Given the description of an element on the screen output the (x, y) to click on. 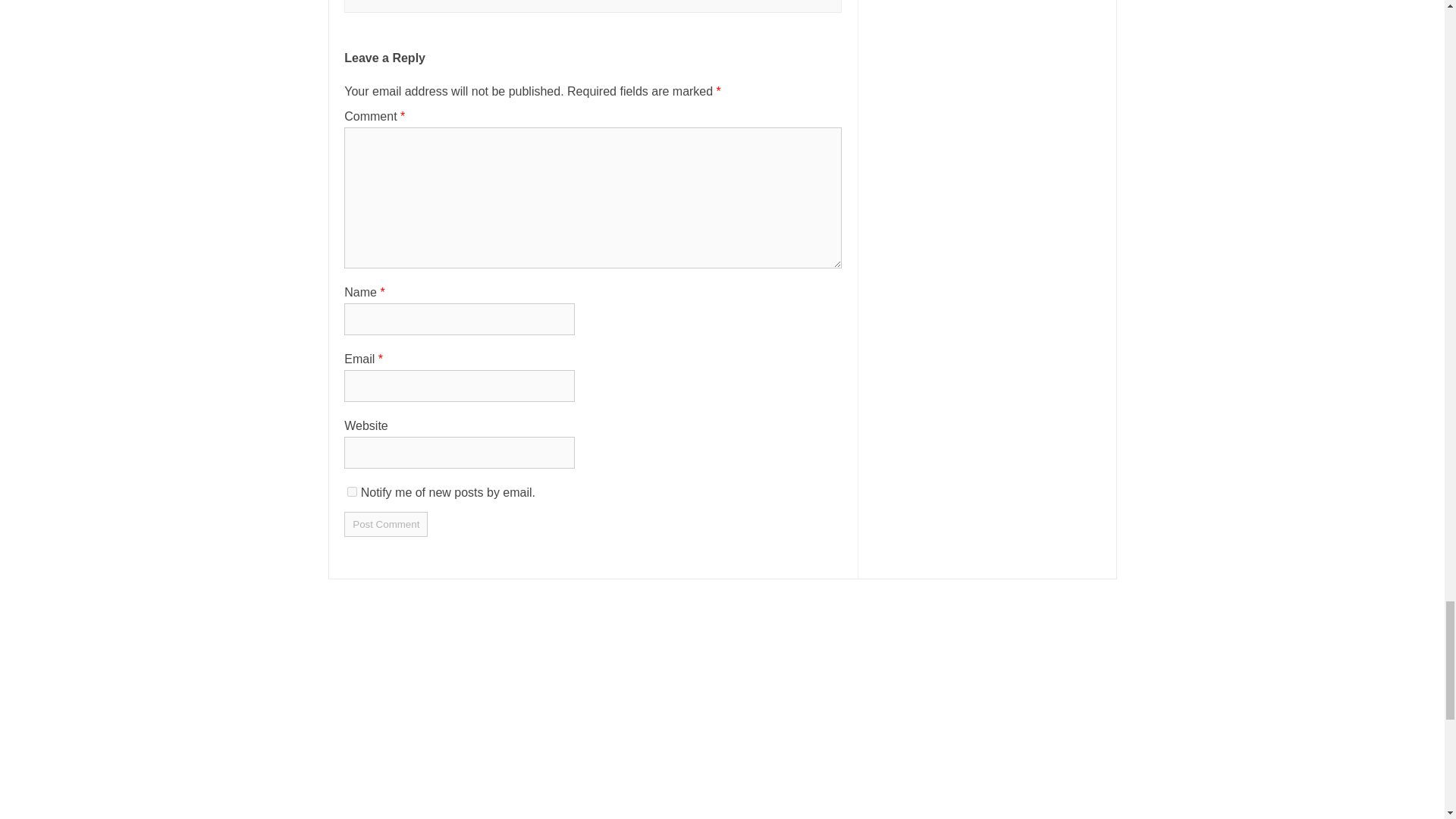
Post Comment (385, 524)
subscribe (351, 491)
Post Comment (385, 524)
